Given the description of an element on the screen output the (x, y) to click on. 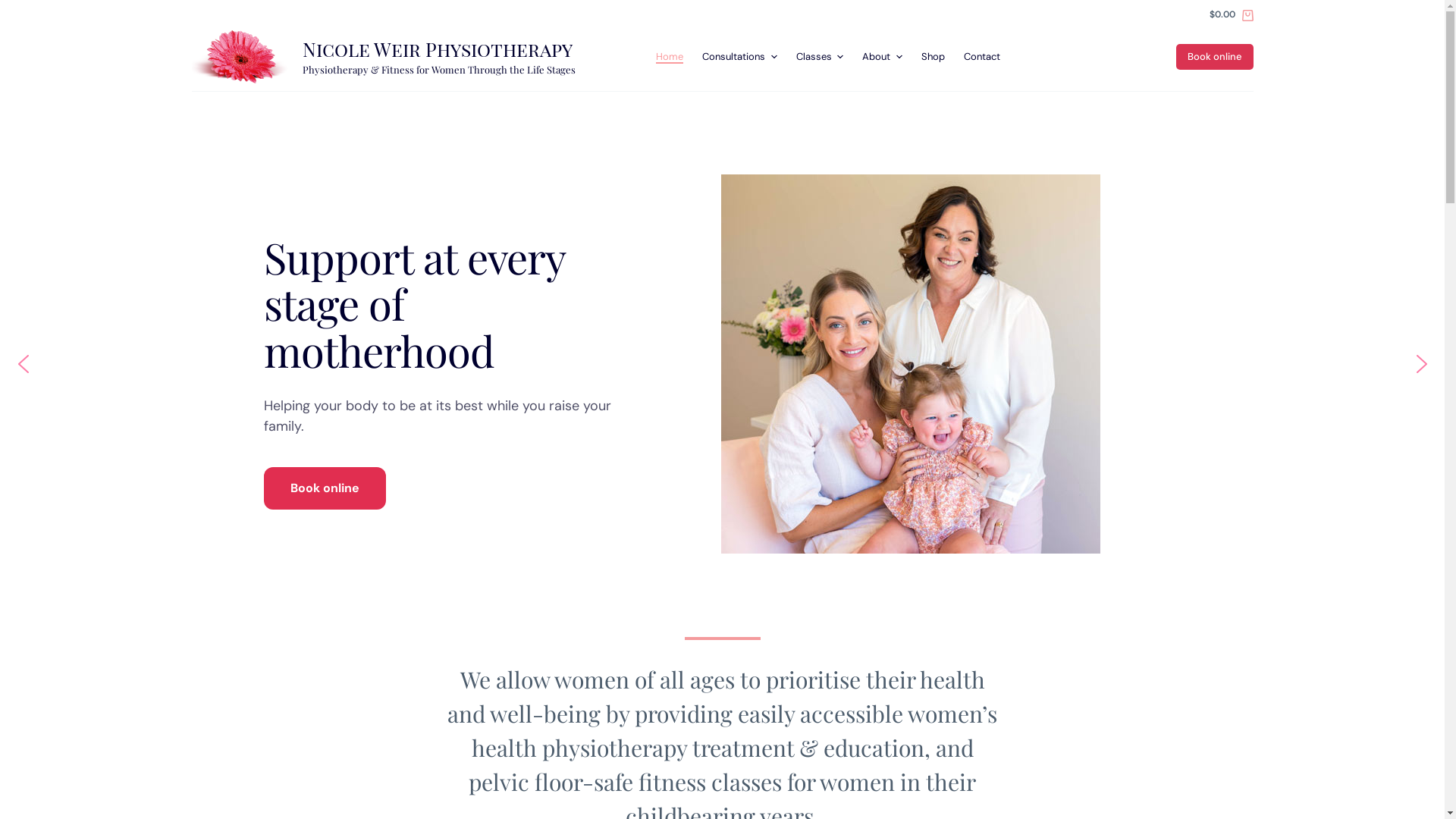
Book online Element type: text (1213, 56)
Shop Element type: text (932, 56)
Book online Element type: text (324, 488)
Contact Element type: text (981, 56)
Home Element type: text (669, 56)
About Element type: text (882, 56)
Nicole Weir Physiotherapy Element type: text (437, 48)
Skip to content Element type: text (15, 7)
Classes Element type: text (819, 56)
Consultations Element type: text (740, 56)
$0.00 Element type: text (1230, 14)
